Given the description of an element on the screen output the (x, y) to click on. 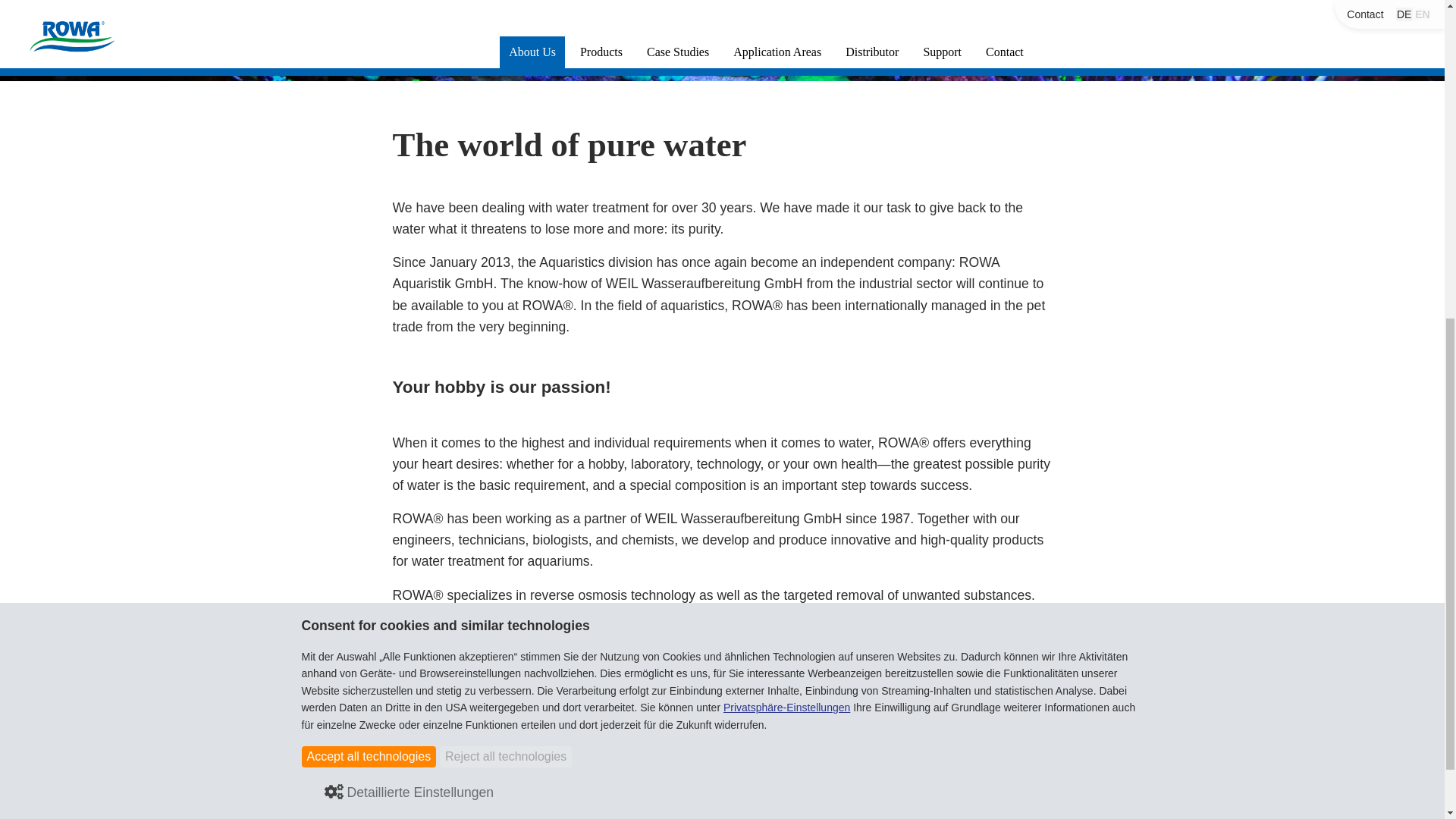
Reject all technologies (505, 197)
Detaillierte Einstellungen (409, 233)
Accept all technologies (368, 197)
